Given the description of an element on the screen output the (x, y) to click on. 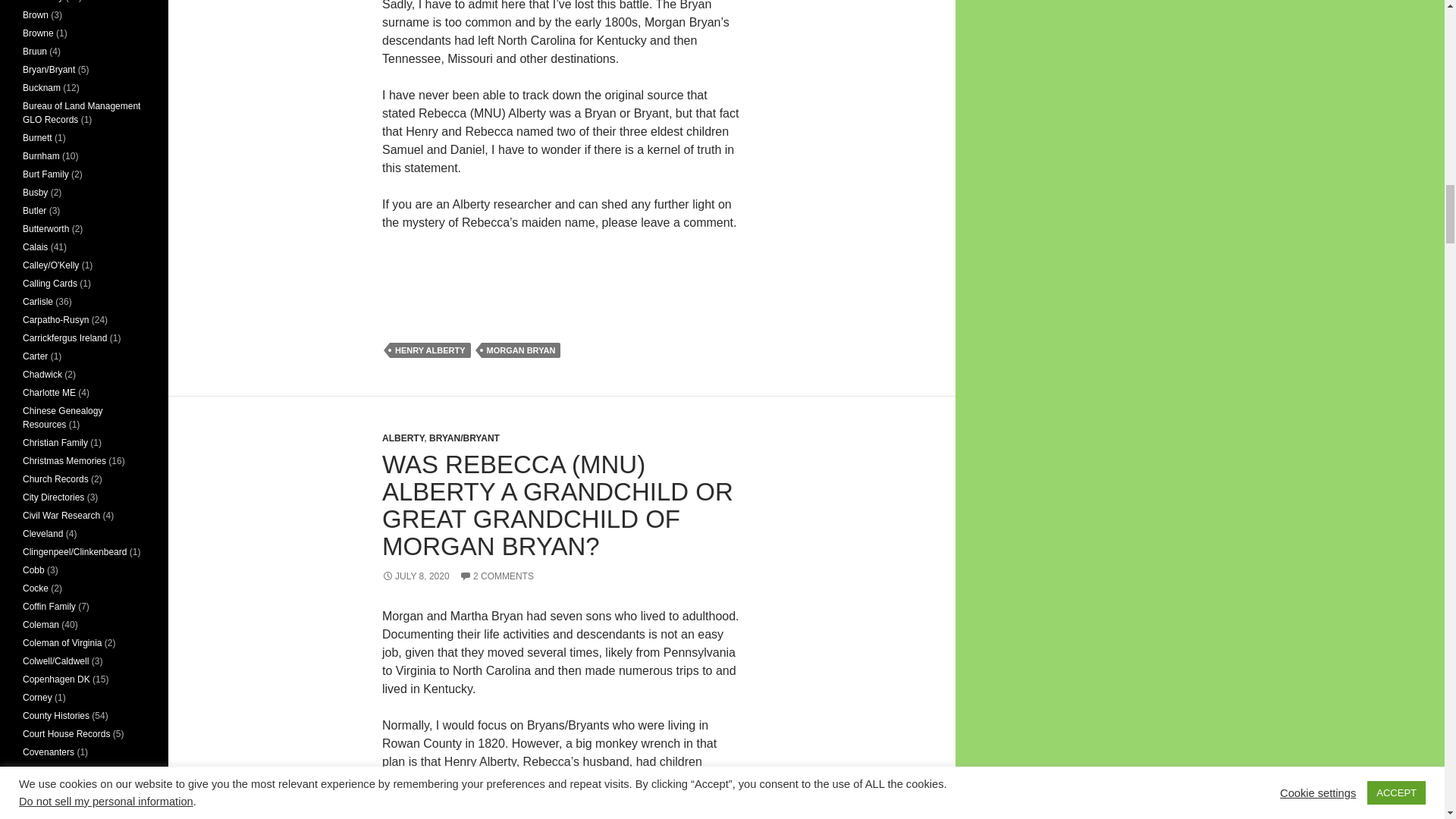
2 COMMENTS (497, 575)
HENRY ALBERTY (430, 350)
JULY 8, 2020 (415, 575)
ALBERTY (402, 438)
MORGAN BRYAN (520, 350)
